Given the description of an element on the screen output the (x, y) to click on. 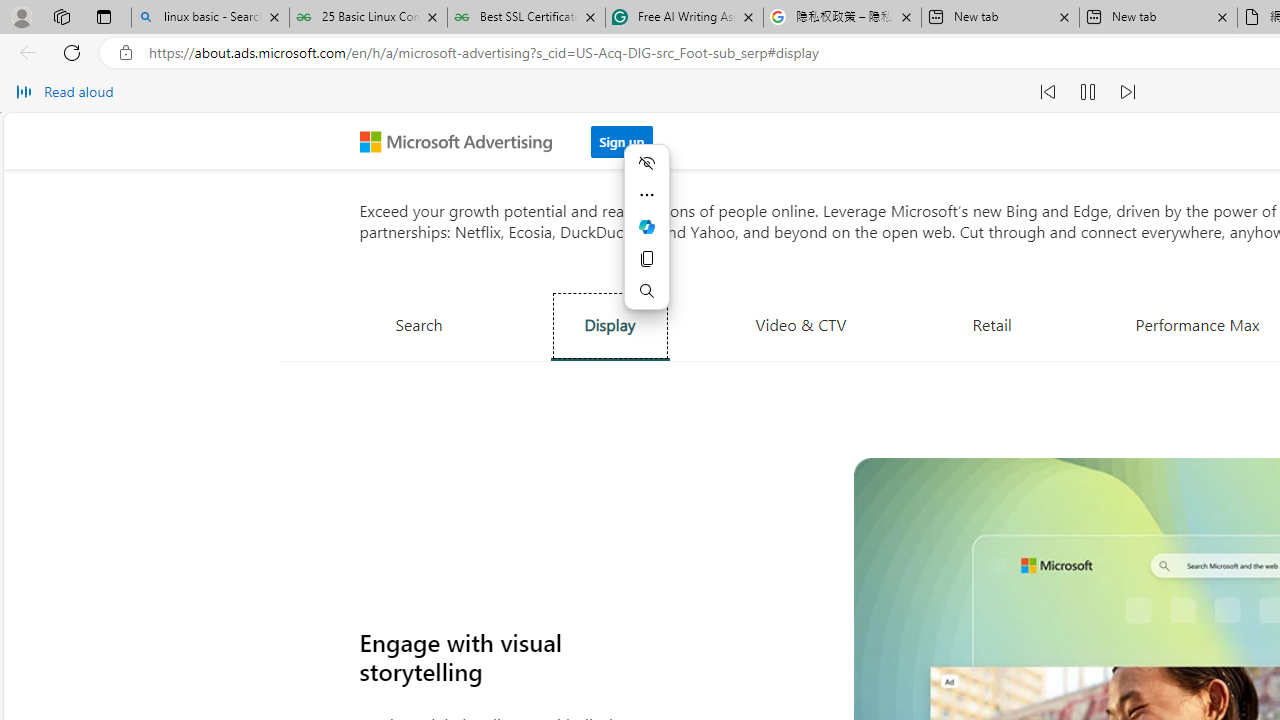
Read next paragraph (1128, 92)
